Given the description of an element on the screen output the (x, y) to click on. 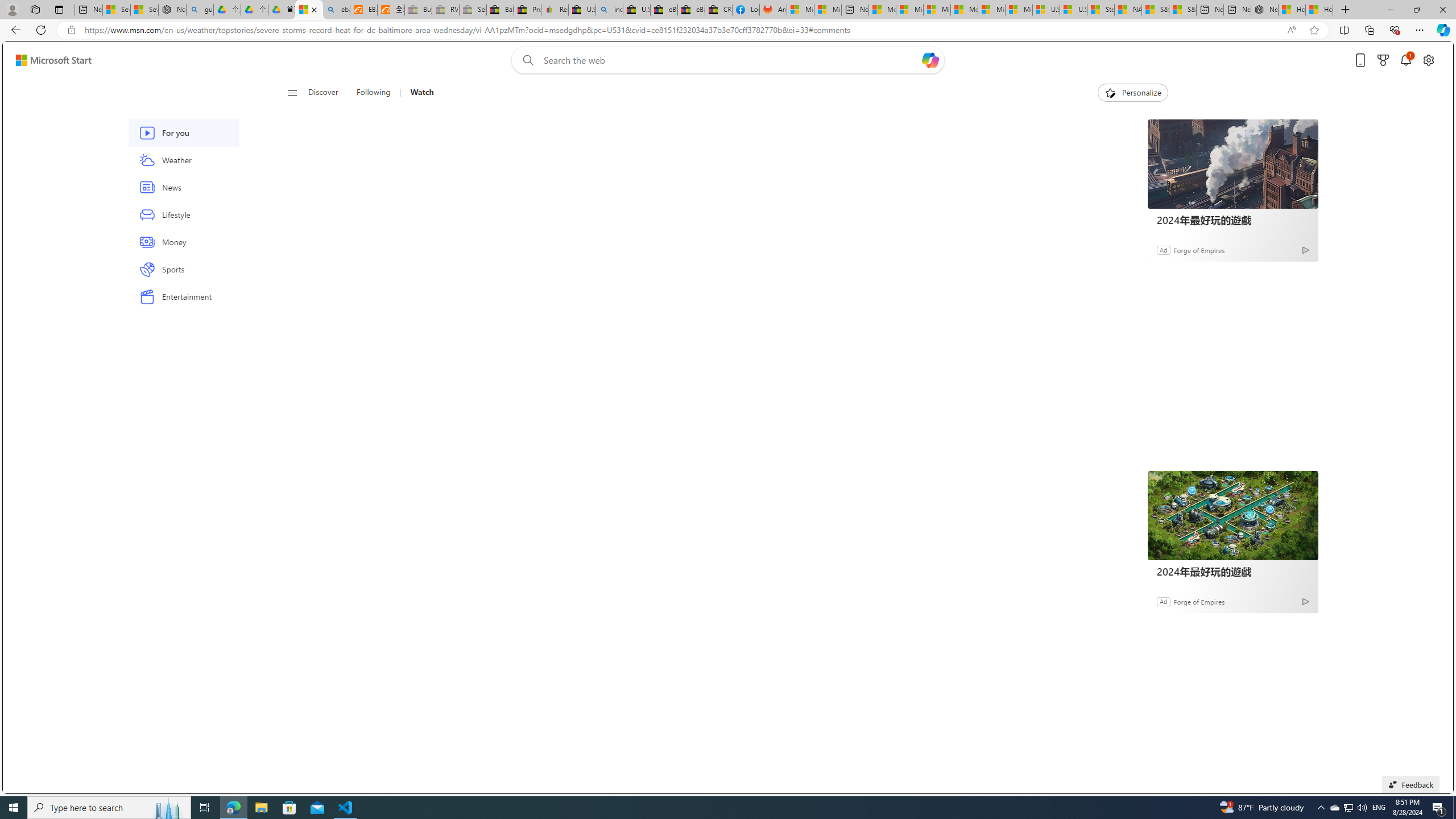
Forge of Empires (1198, 601)
Microsoft account | Privacy (909, 9)
Skip to footer (46, 59)
U.S. State Privacy Disclosures - eBay Inc. (636, 9)
